Given the description of an element on the screen output the (x, y) to click on. 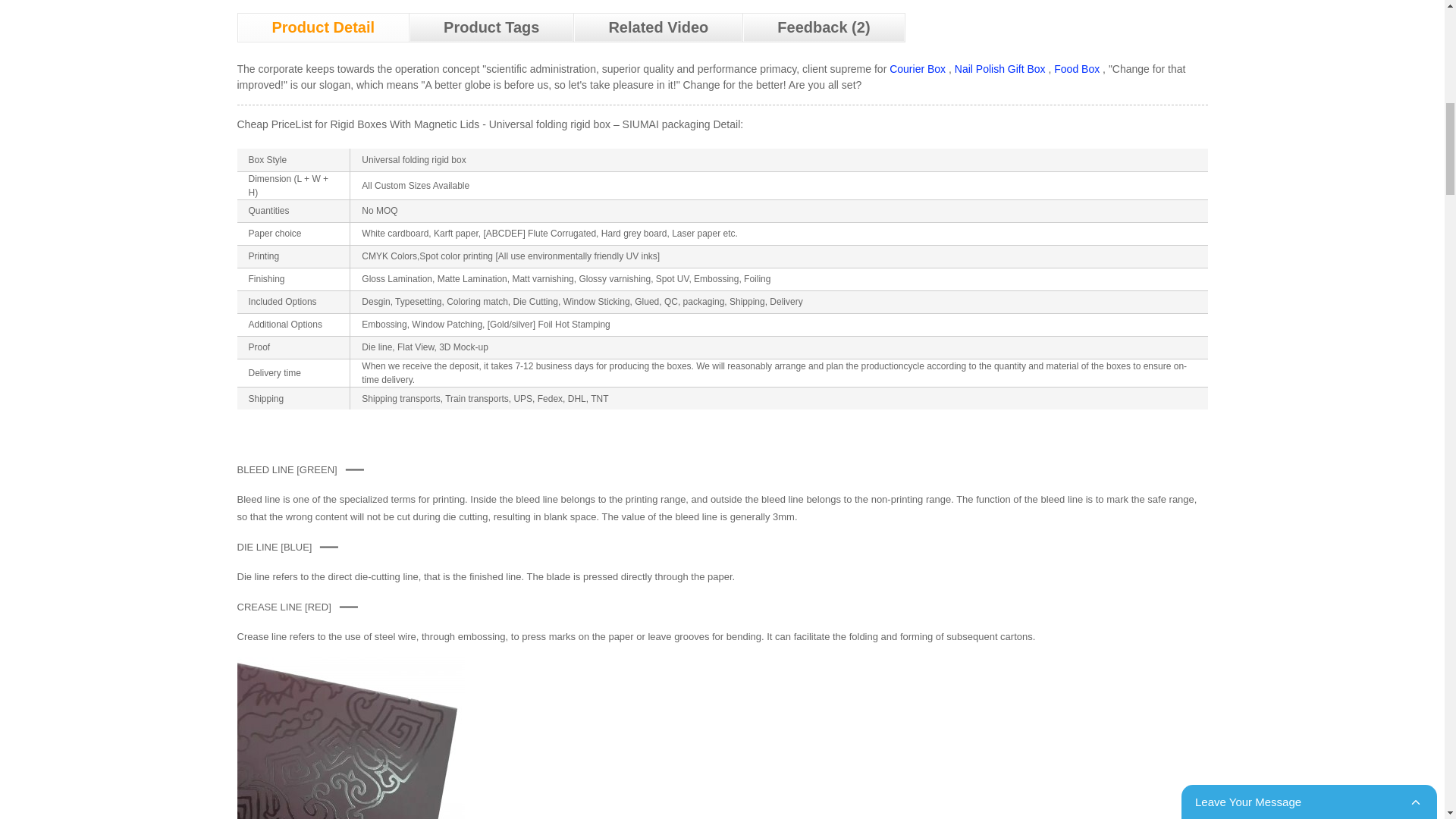
Courier Box (916, 69)
Food Box (1076, 69)
Courier Box (916, 69)
Nail Polish Gift Box (1000, 69)
Food Box (1076, 69)
Nail Polish Gift Box (1000, 69)
